Given the description of an element on the screen output the (x, y) to click on. 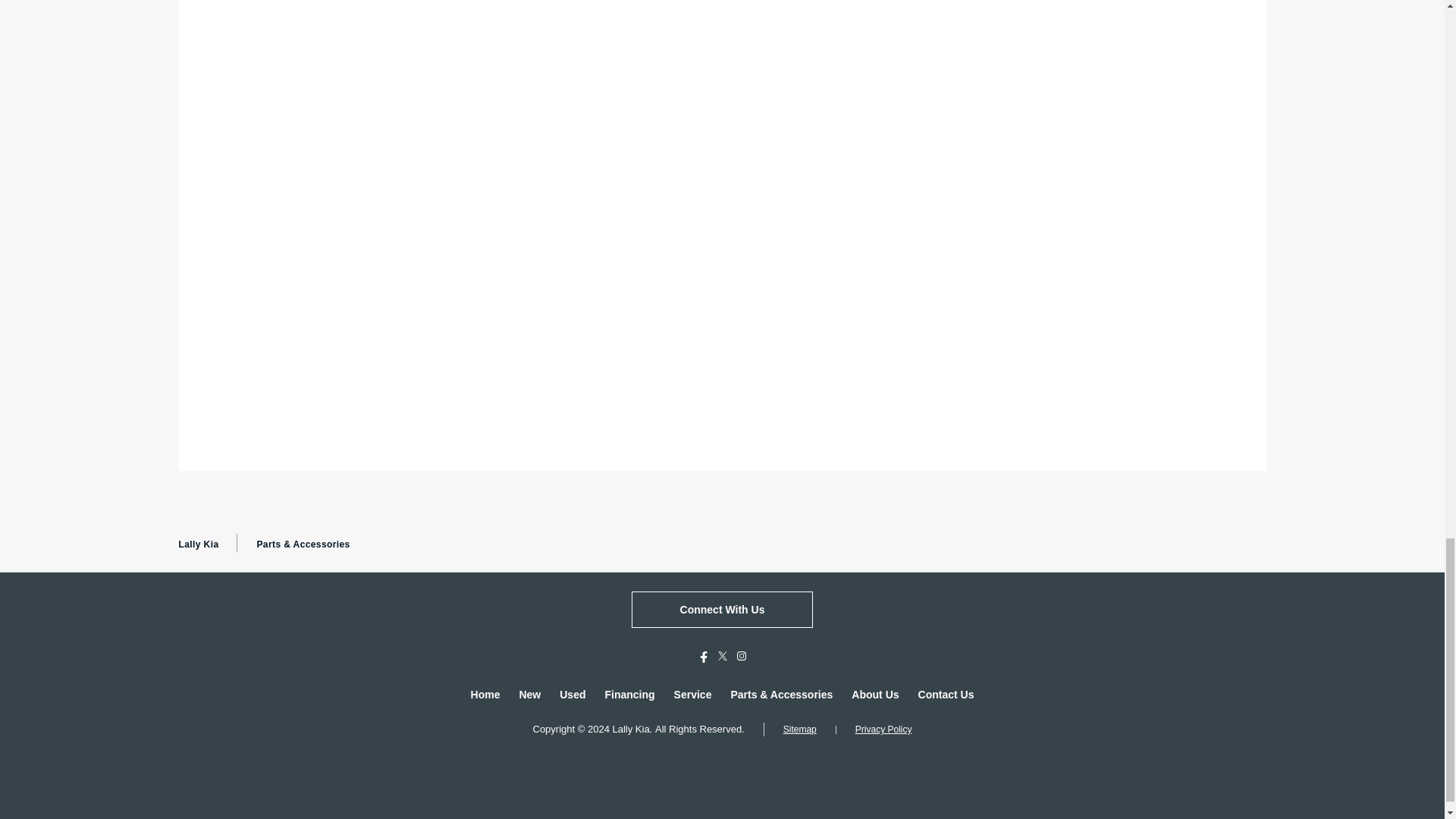
Powered by EDealer (721, 764)
Go to Lally Kia. (199, 543)
